Given the description of an element on the screen output the (x, y) to click on. 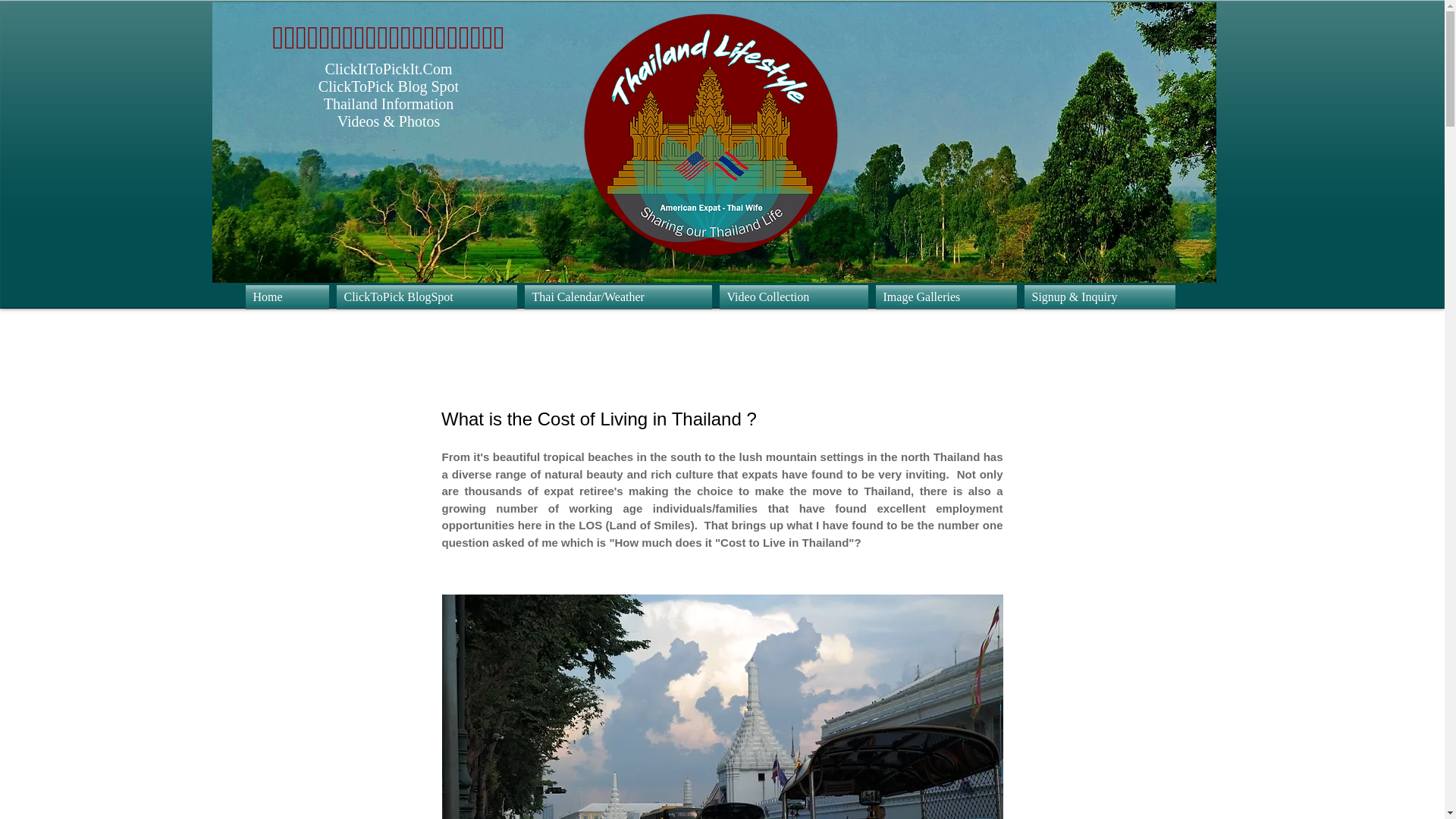
ClickToPick BlogSpot (425, 296)
ClickToPick Blog Spot (388, 86)
Image Galleries (946, 296)
Video Collection (794, 296)
Thailand Information (388, 103)
Home (289, 296)
